Given the description of an element on the screen output the (x, y) to click on. 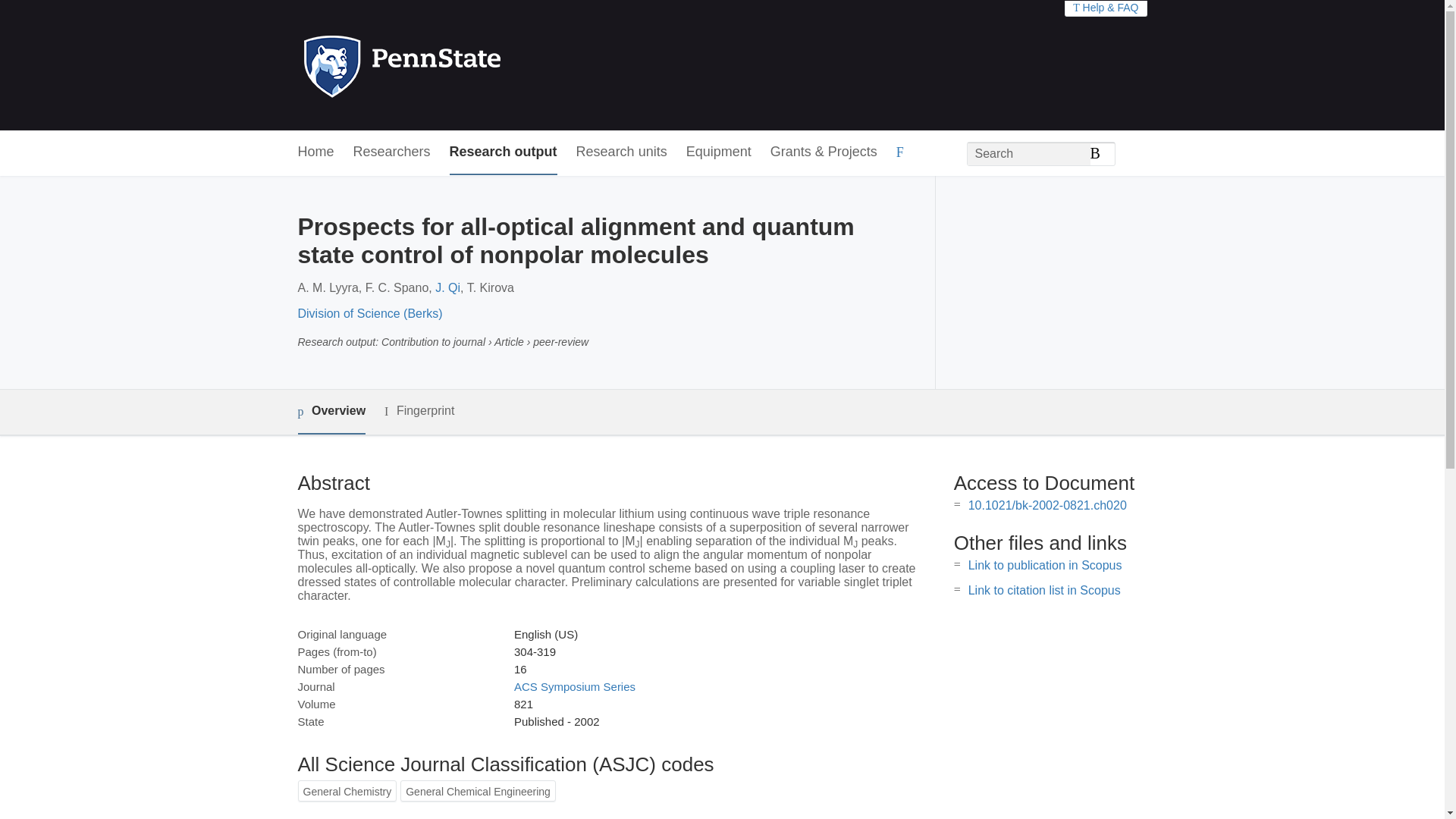
Fingerprint (419, 411)
ACS Symposium Series (573, 686)
Researchers (391, 152)
Equipment (718, 152)
Research output (503, 152)
Overview (331, 411)
Penn State Home (467, 65)
Research units (621, 152)
Link to citation list in Scopus (1044, 590)
J. Qi (447, 287)
Link to publication in Scopus (1045, 564)
